Given the description of an element on the screen output the (x, y) to click on. 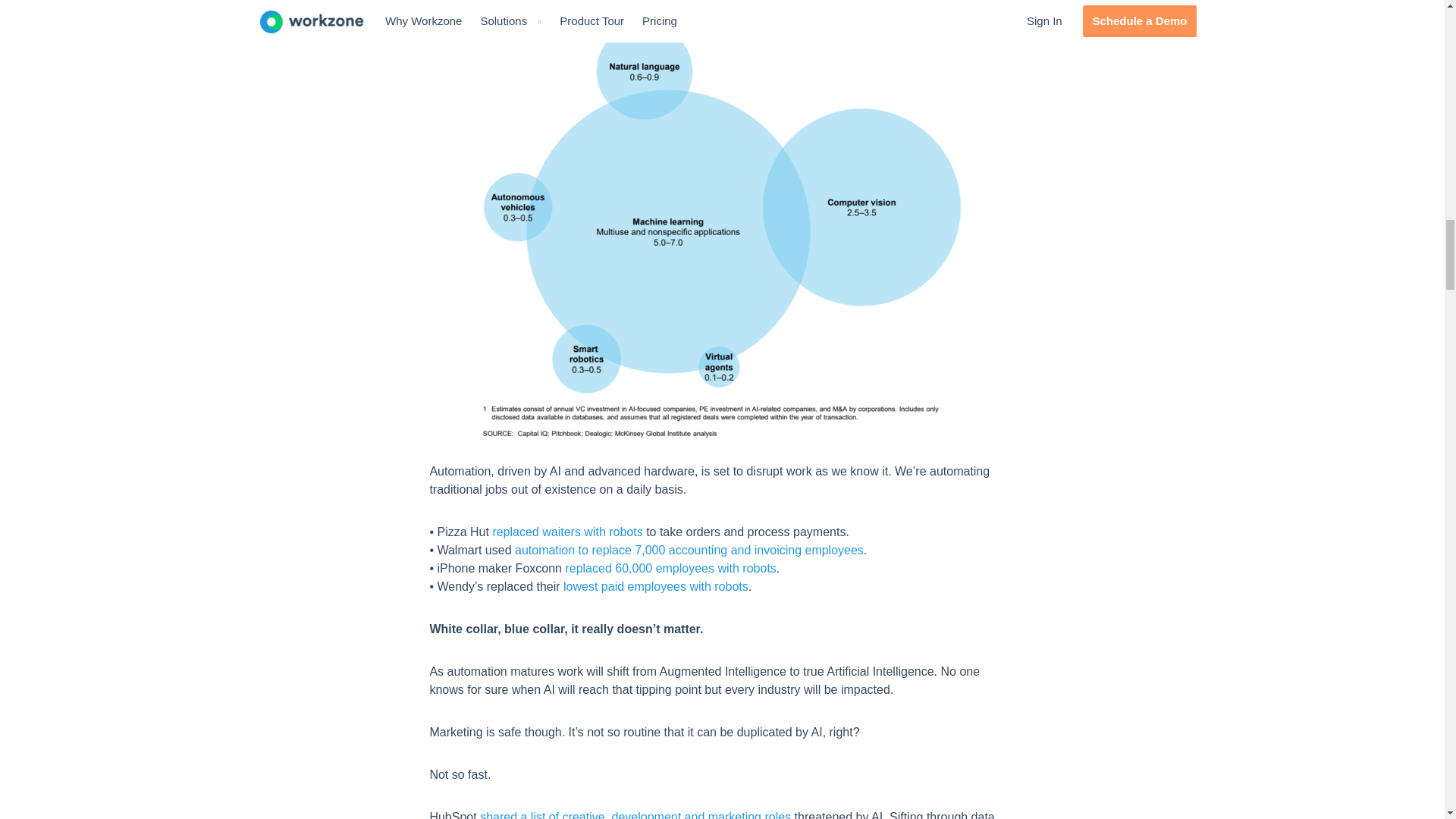
replaced waiters with robots (567, 531)
shared a list of creative, development and marketing roles (635, 814)
replaced 60,000 employees with robots (670, 567)
lowest paid employees with robots (655, 585)
